Given the description of an element on the screen output the (x, y) to click on. 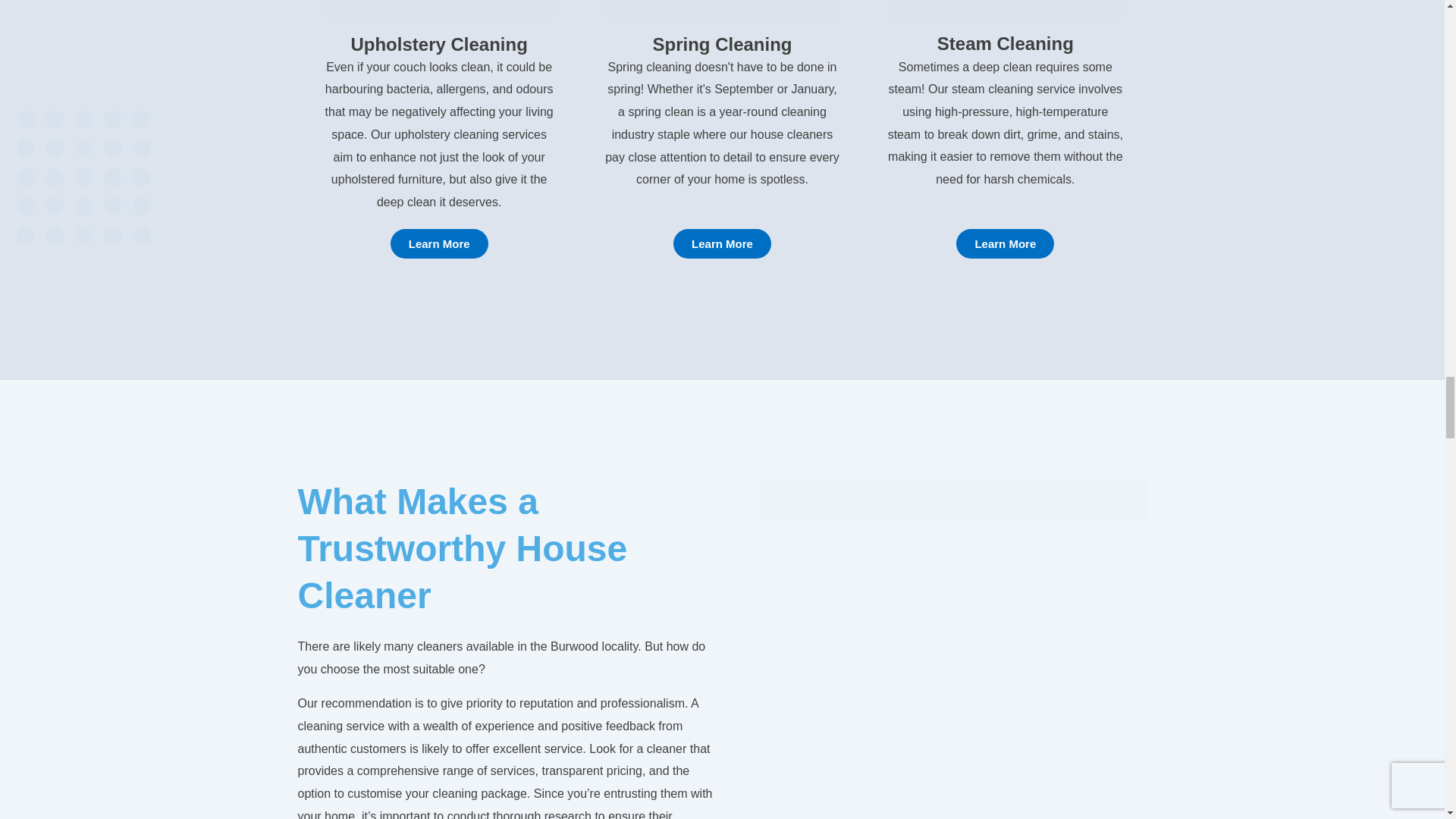
House Cleaners Burwood (953, 499)
